Given the description of an element on the screen output the (x, y) to click on. 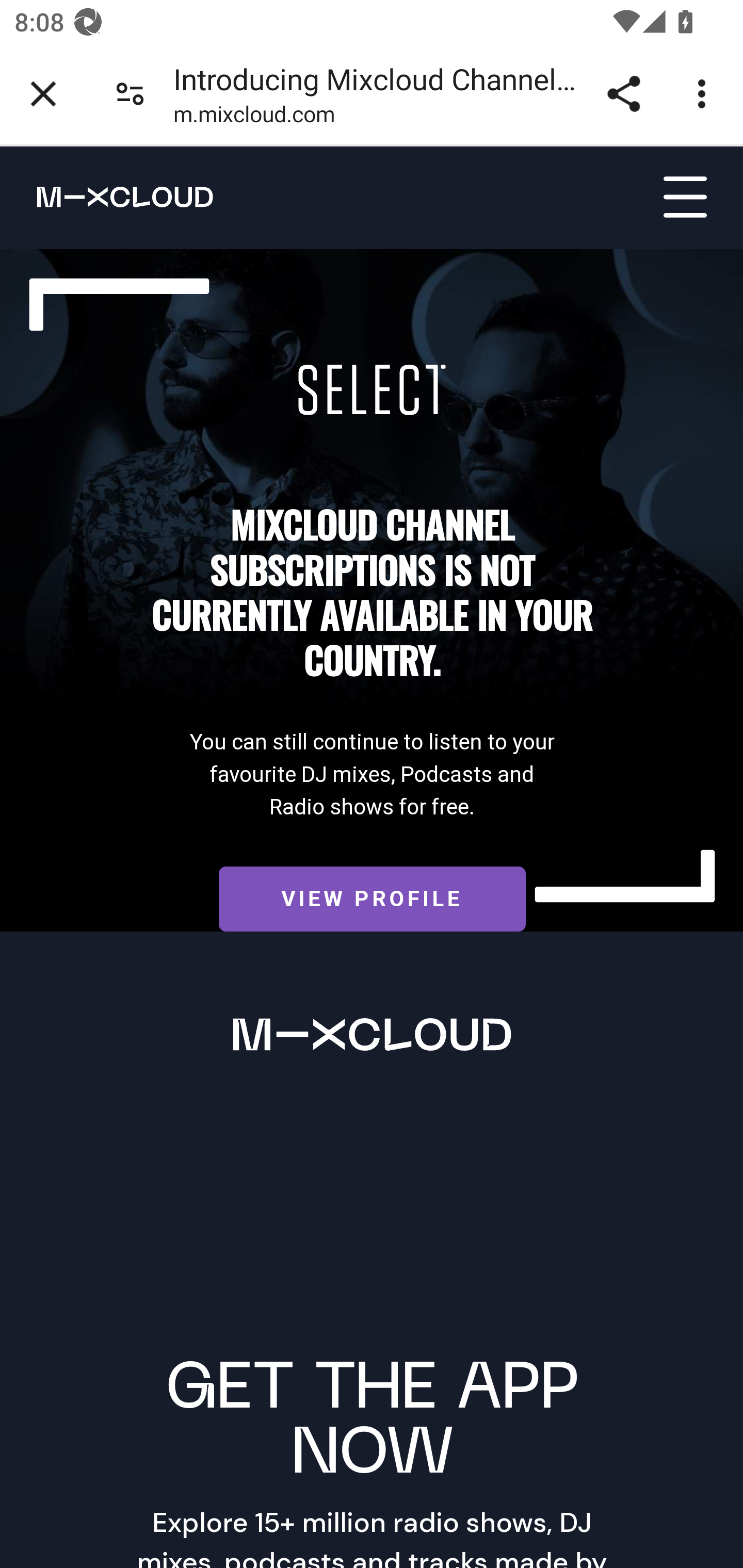
Close tab (43, 93)
Share (623, 93)
Customize and control Google Chrome (705, 93)
Connection is secure (129, 93)
m.mixcloud.com (254, 117)
m.mixcloud (107, 195)
VIEW PROFILE (371, 899)
